Given the description of an element on the screen output the (x, y) to click on. 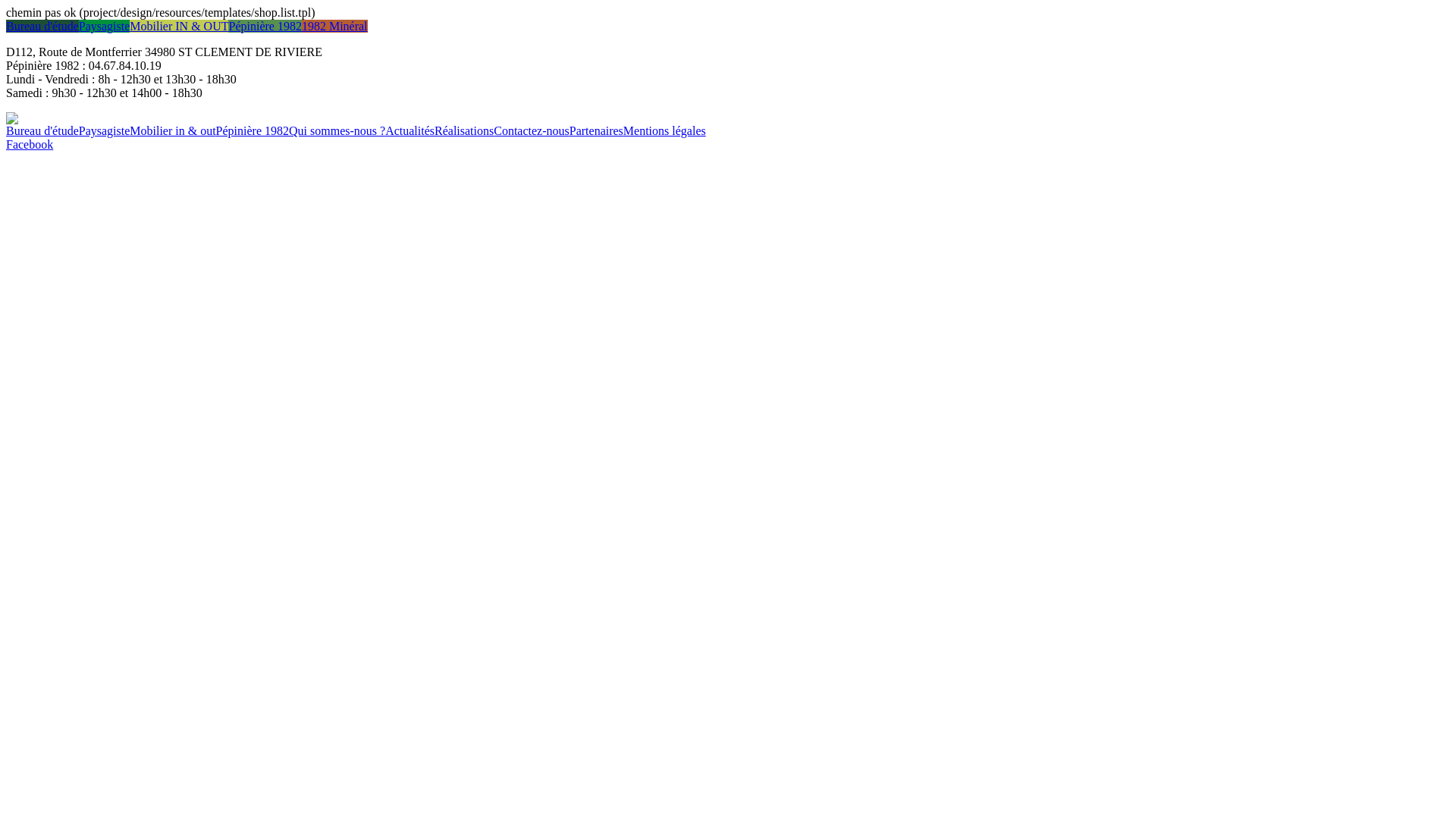
Mobilier in & out Element type: text (172, 130)
Facebook Element type: text (29, 144)
Paysagiste Element type: text (104, 130)
Contactez-nous Element type: text (531, 130)
Qui sommes-nous ? Element type: text (336, 130)
Mobilier IN & OUT Element type: text (178, 25)
Partenaires Element type: text (596, 130)
Paysagiste Element type: text (104, 25)
